Given the description of an element on the screen output the (x, y) to click on. 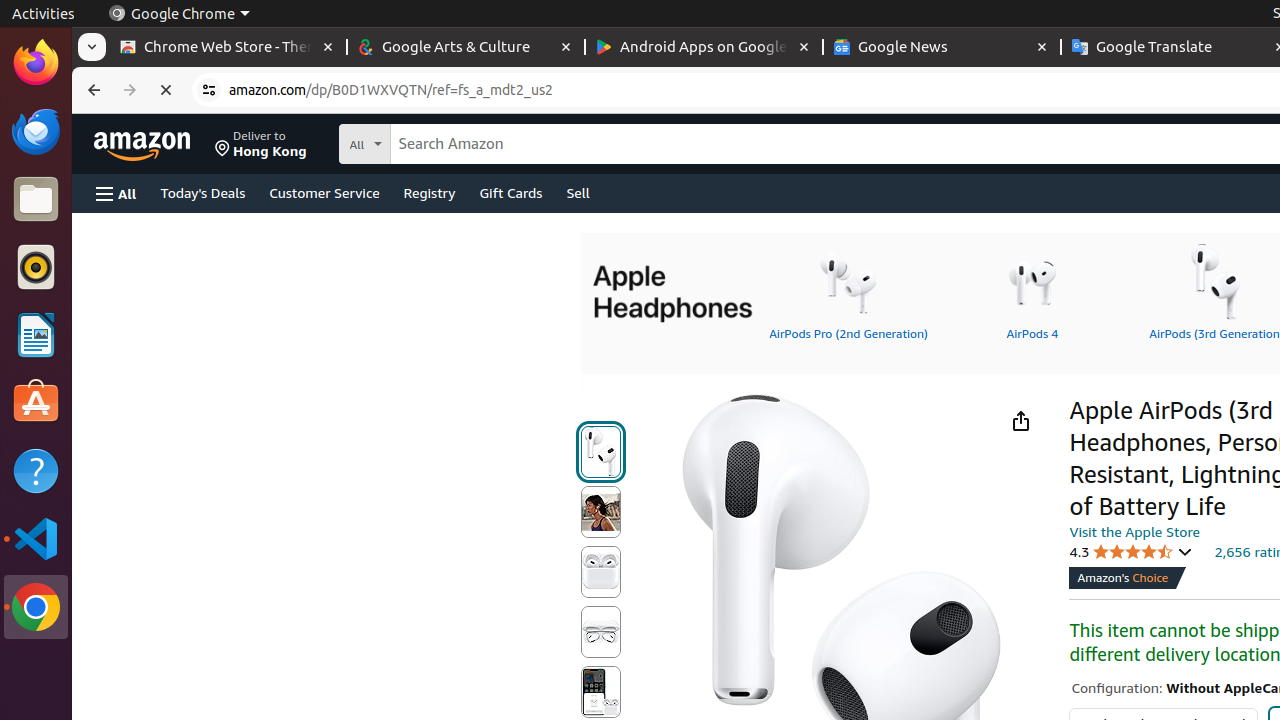
Registry Element type: link (429, 192)
Gift Cards Element type: link (511, 192)
Thunderbird Mail Element type: push-button (36, 131)
Reload Element type: push-button (166, 90)
Forward Element type: push-button (130, 90)
